Given the description of an element on the screen output the (x, y) to click on. 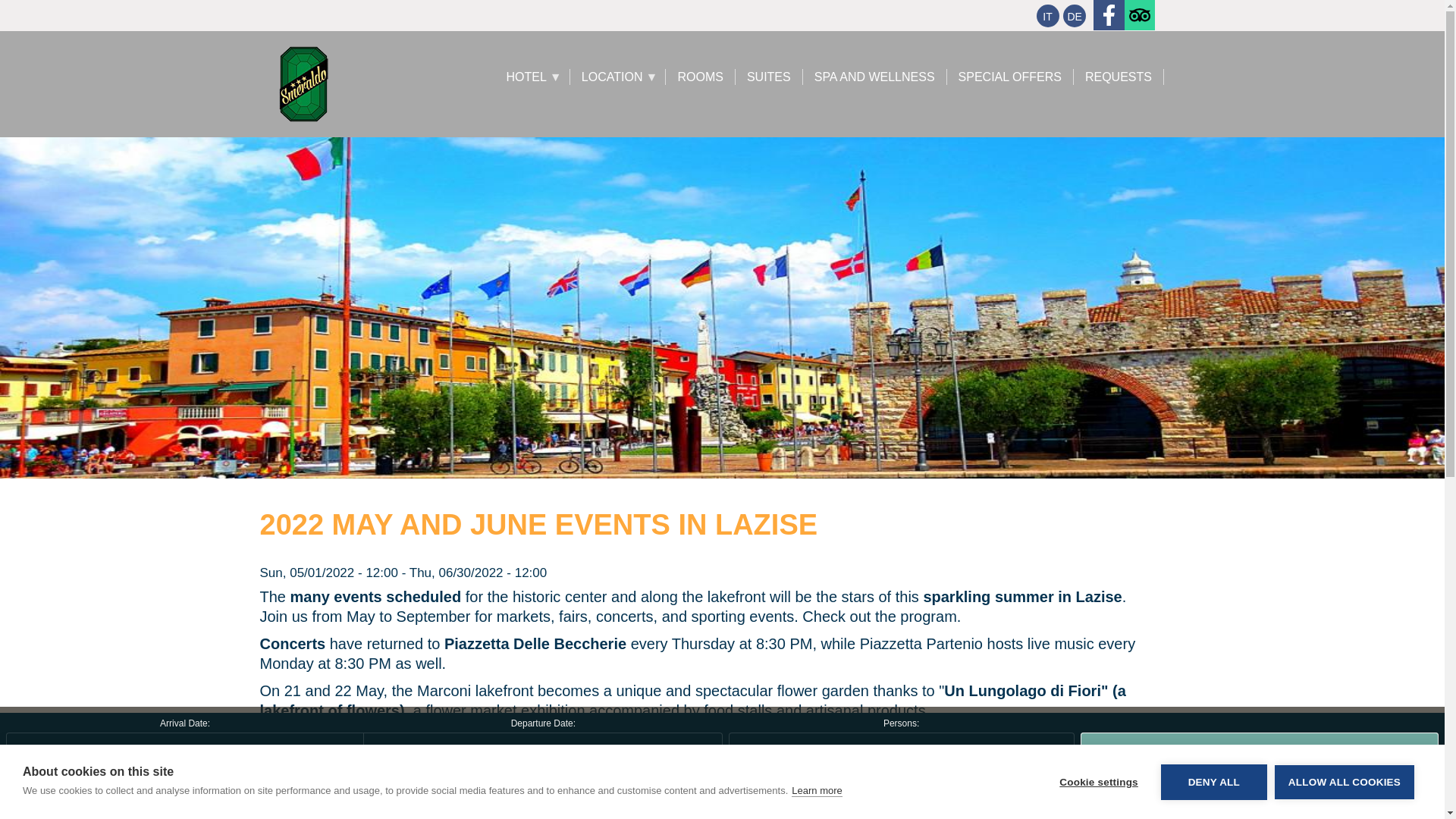
IT (1046, 15)
ROOMS (700, 76)
ALLOW ALL COOKIES (1344, 792)
SPECIAL OFFERS (1010, 76)
SPA AND WELLNESS (875, 76)
Promo code: (1244, 796)
REQUESTS (1118, 76)
DE (1074, 15)
SUITES (769, 76)
DENY ALL (1213, 800)
